Given the description of an element on the screen output the (x, y) to click on. 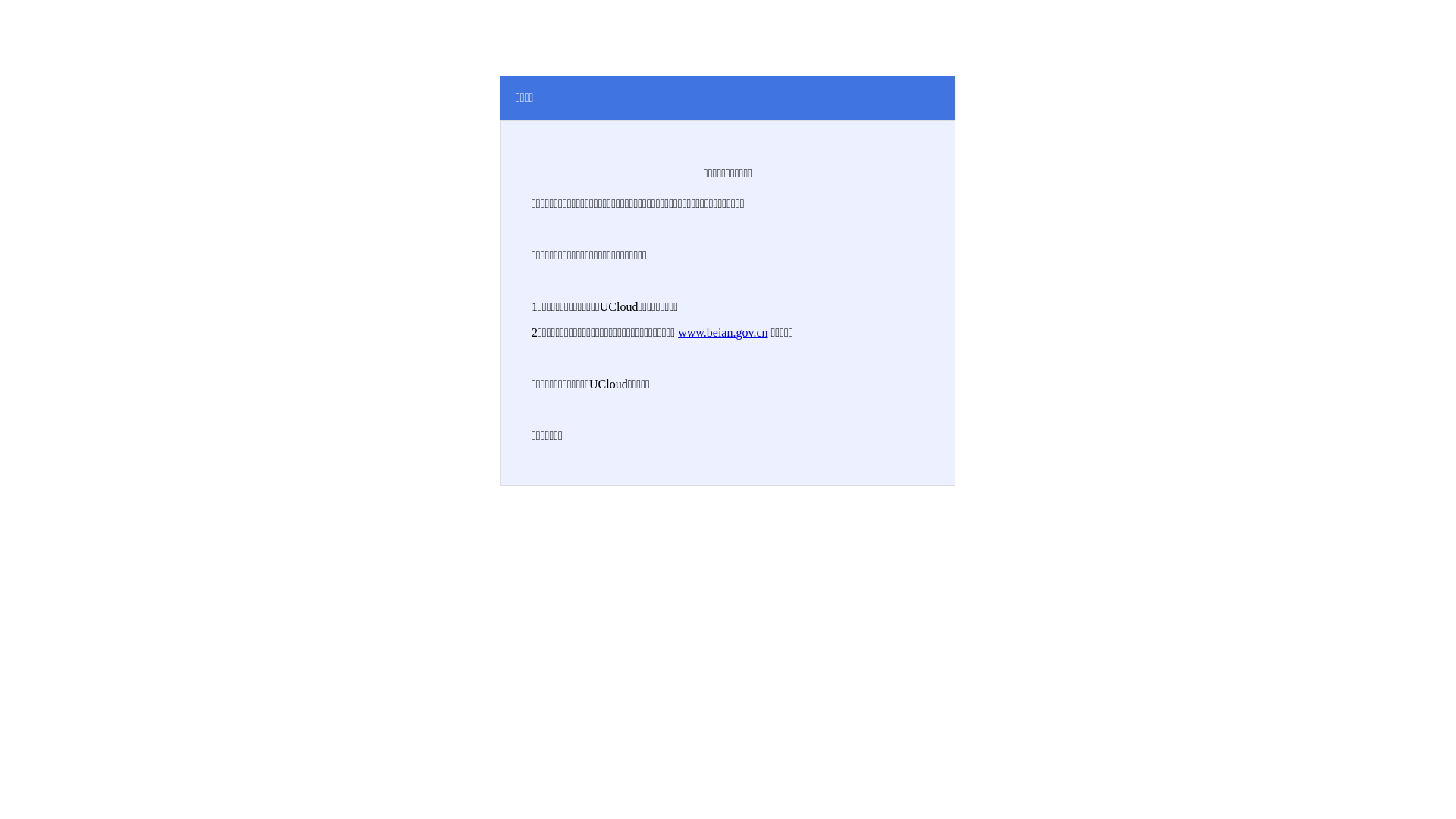
www.beian.gov.cn Element type: text (722, 332)
